Given the description of an element on the screen output the (x, y) to click on. 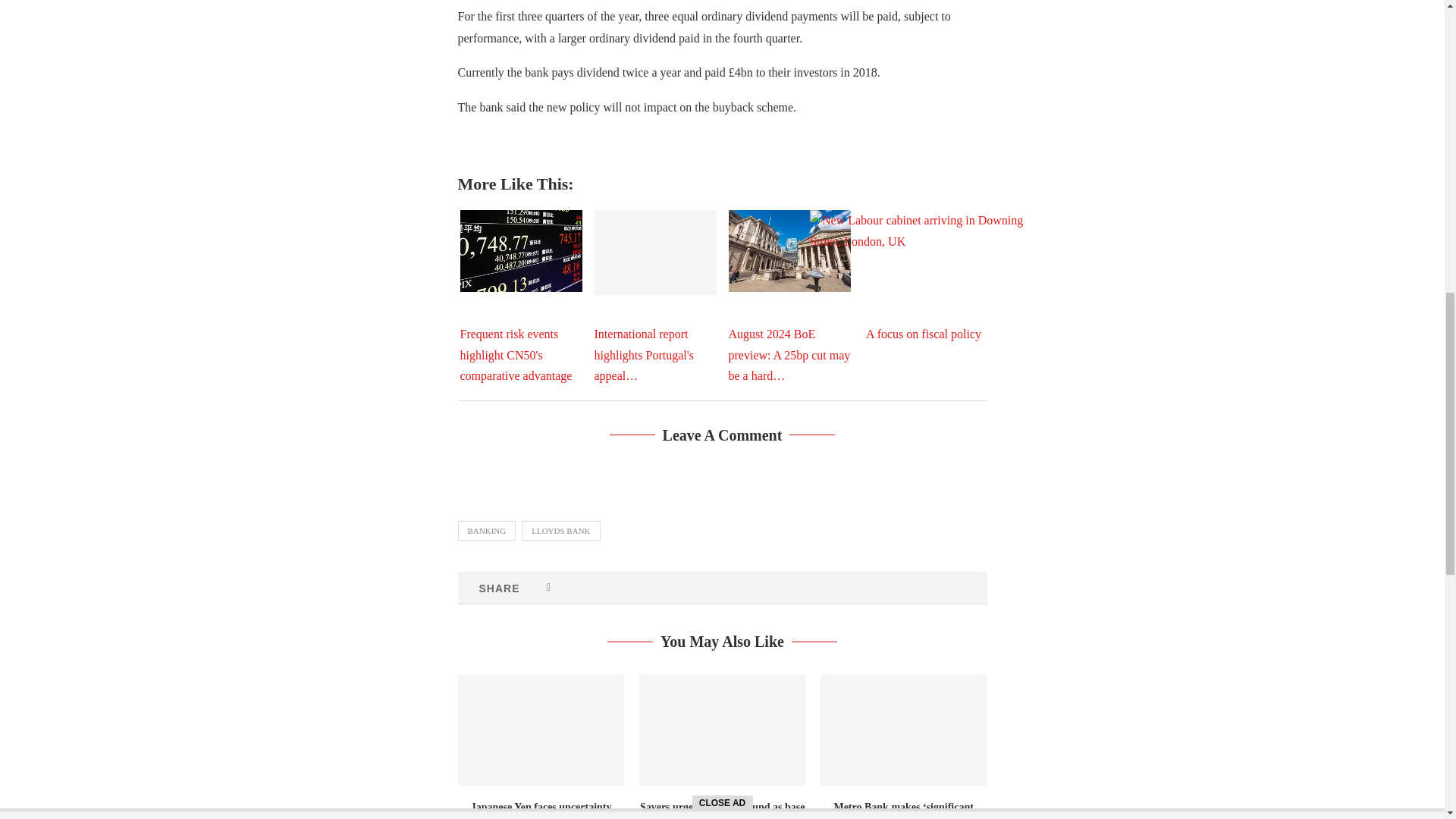
A focus on fiscal policy (922, 285)
Japanese Yen faces uncertainty (541, 729)
Frequent risk events highlight CN50's comparative advantage (520, 250)
